Given the description of an element on the screen output the (x, y) to click on. 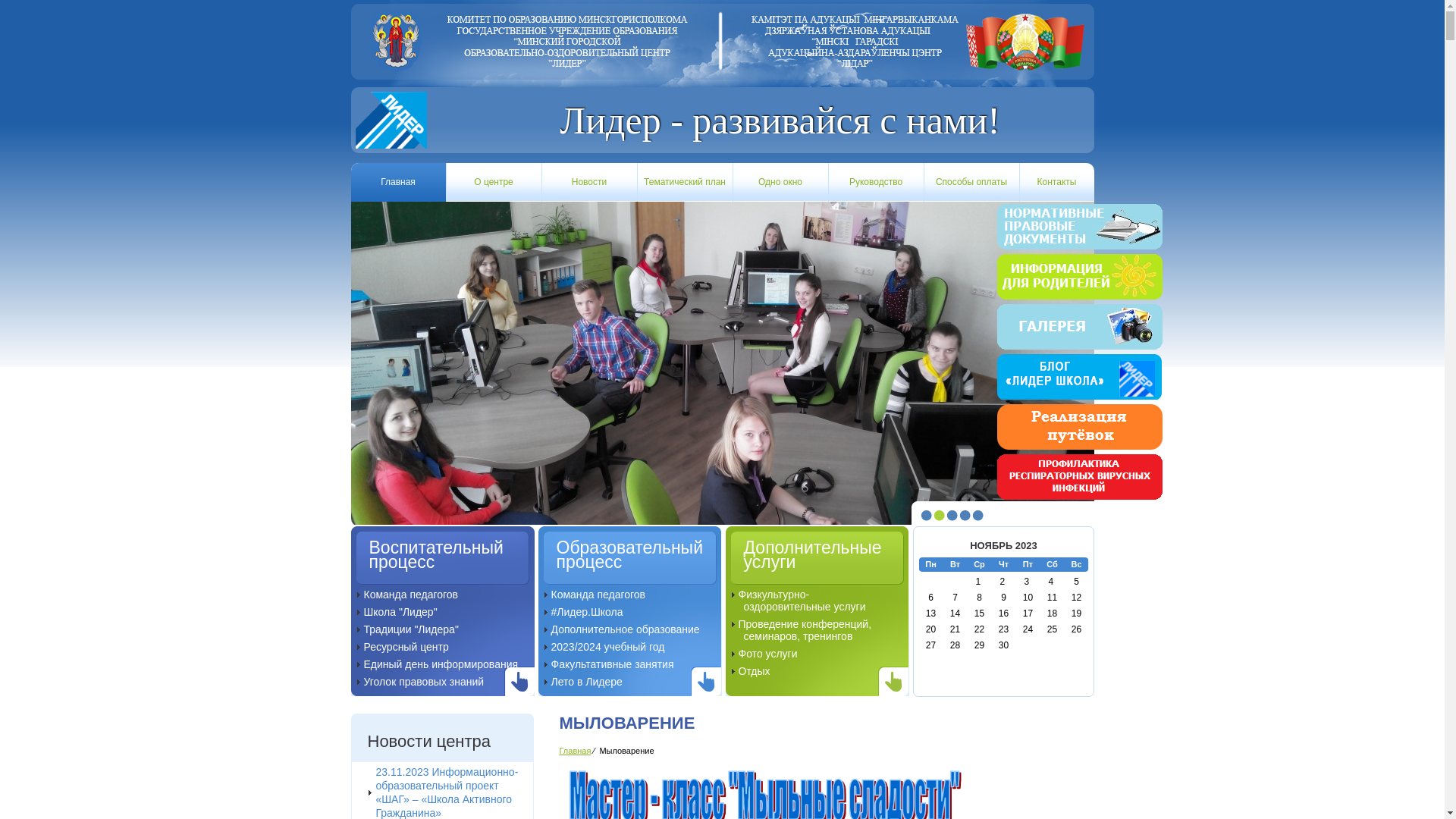
3 Element type: text (951, 514)
4 Element type: text (963, 514)
5 Element type: text (977, 514)
1 Element type: text (925, 514)
2 Element type: text (938, 514)
